Given the description of an element on the screen output the (x, y) to click on. 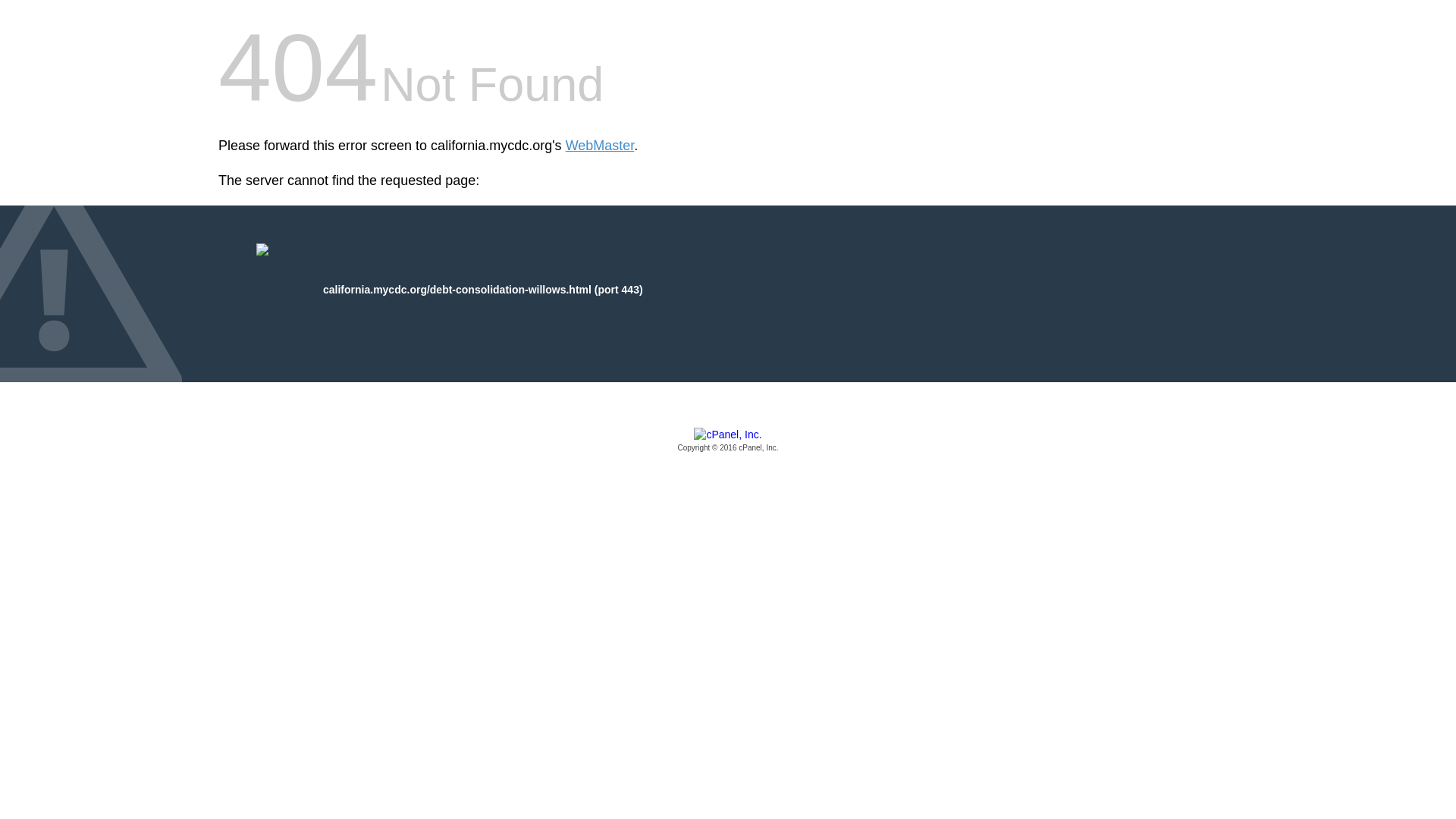
WebMaster (600, 145)
cPanel, Inc. (727, 440)
